Given the description of an element on the screen output the (x, y) to click on. 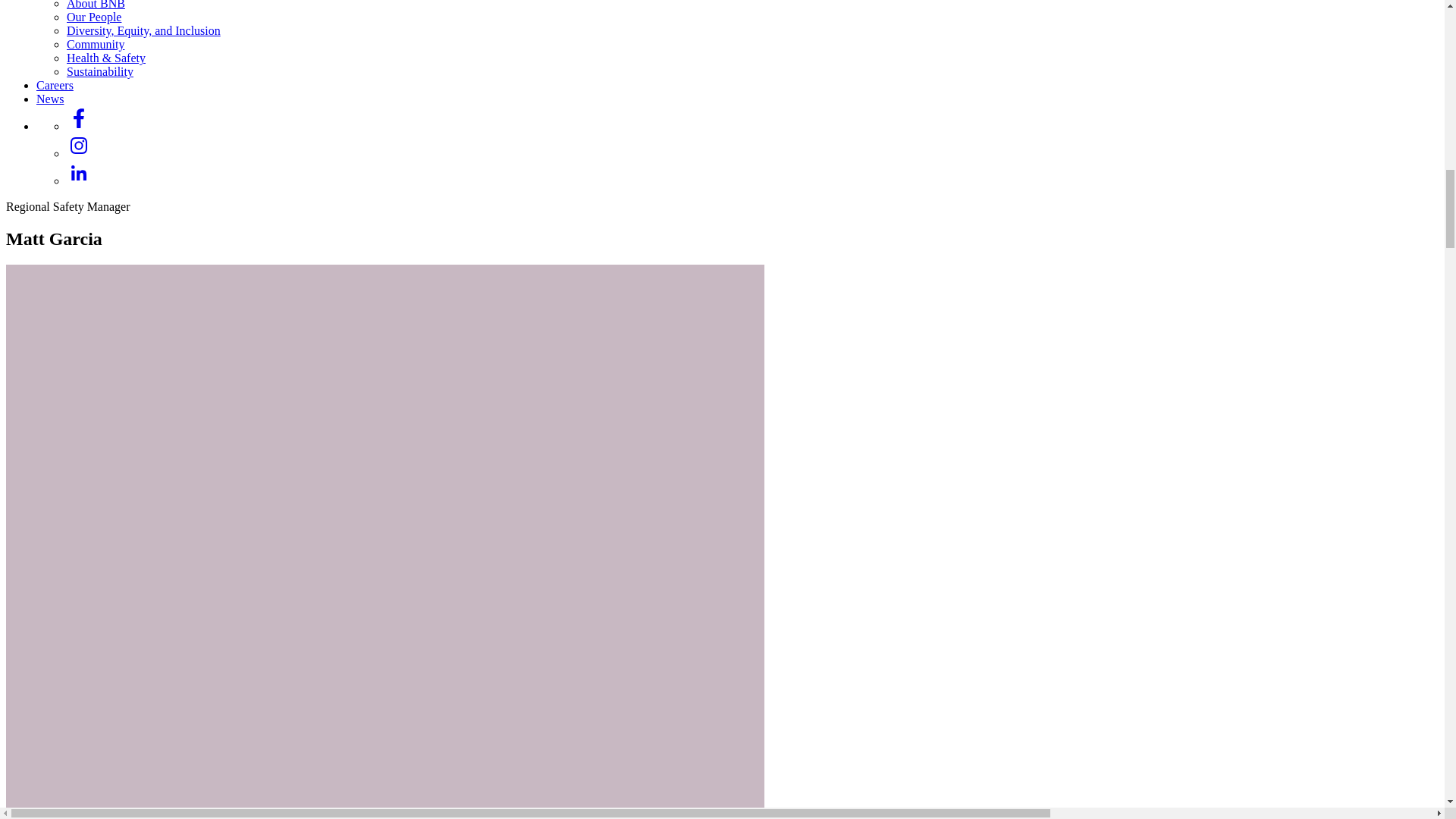
Our People (93, 16)
Careers (55, 84)
Sustainability (99, 71)
Community (94, 43)
News (50, 98)
About BNB (95, 4)
Diversity, Equity, and Inclusion (143, 30)
